Given the description of an element on the screen output the (x, y) to click on. 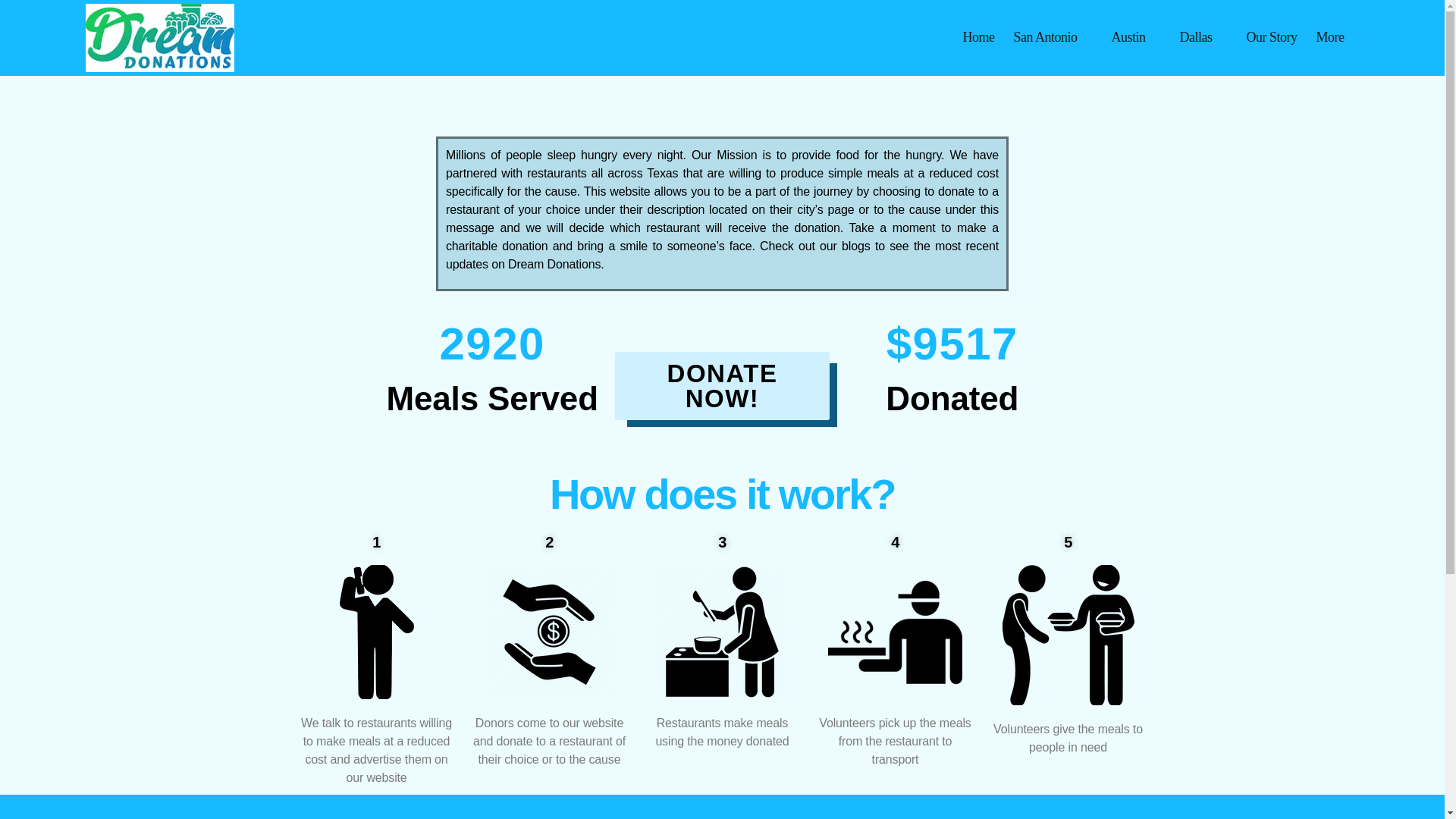
Austin (1135, 37)
San Antonio (1052, 37)
Dallas (1203, 37)
DONATE NOW! (721, 386)
More (1337, 37)
Our Story (1271, 37)
Home (978, 37)
